Given the description of an element on the screen output the (x, y) to click on. 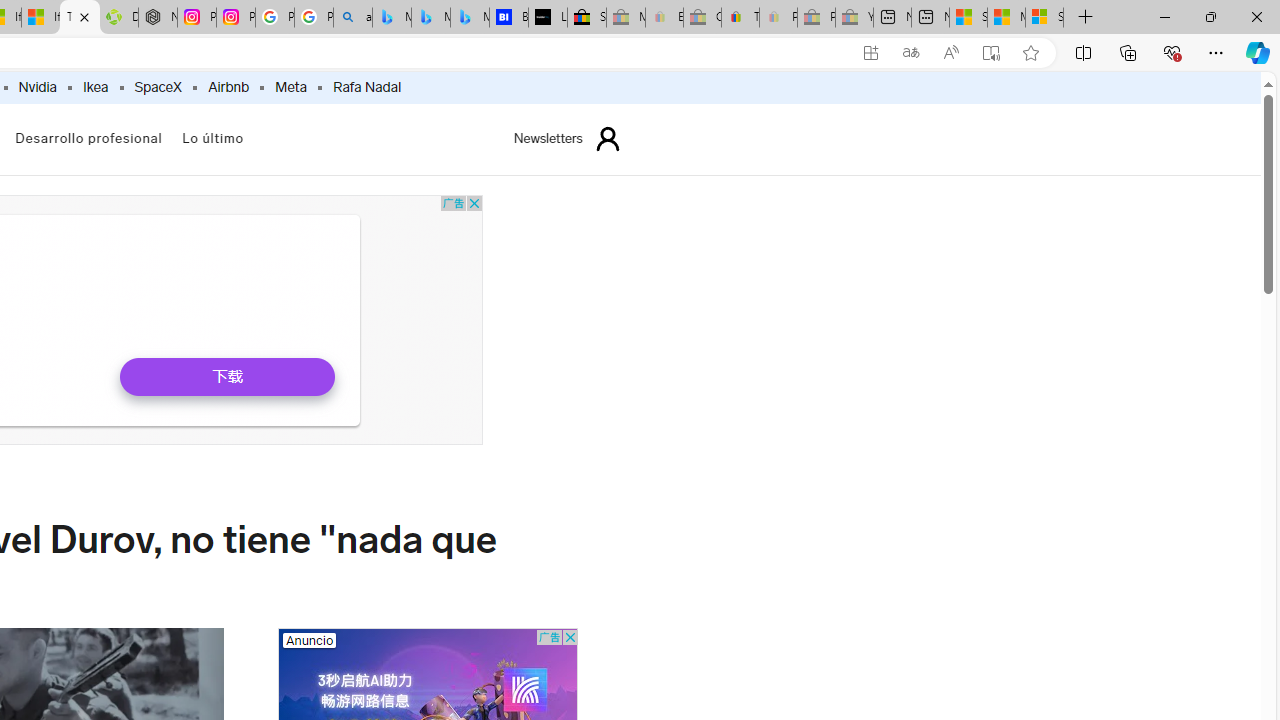
Threats and offensive language policy | eBay (740, 17)
Nvidia (37, 88)
Payments Terms of Use | eBay.com - Sleeping (778, 17)
Ikea (94, 88)
Microsoft Bing Travel - Shangri-La Hotel Bangkok (469, 17)
